Given the description of an element on the screen output the (x, y) to click on. 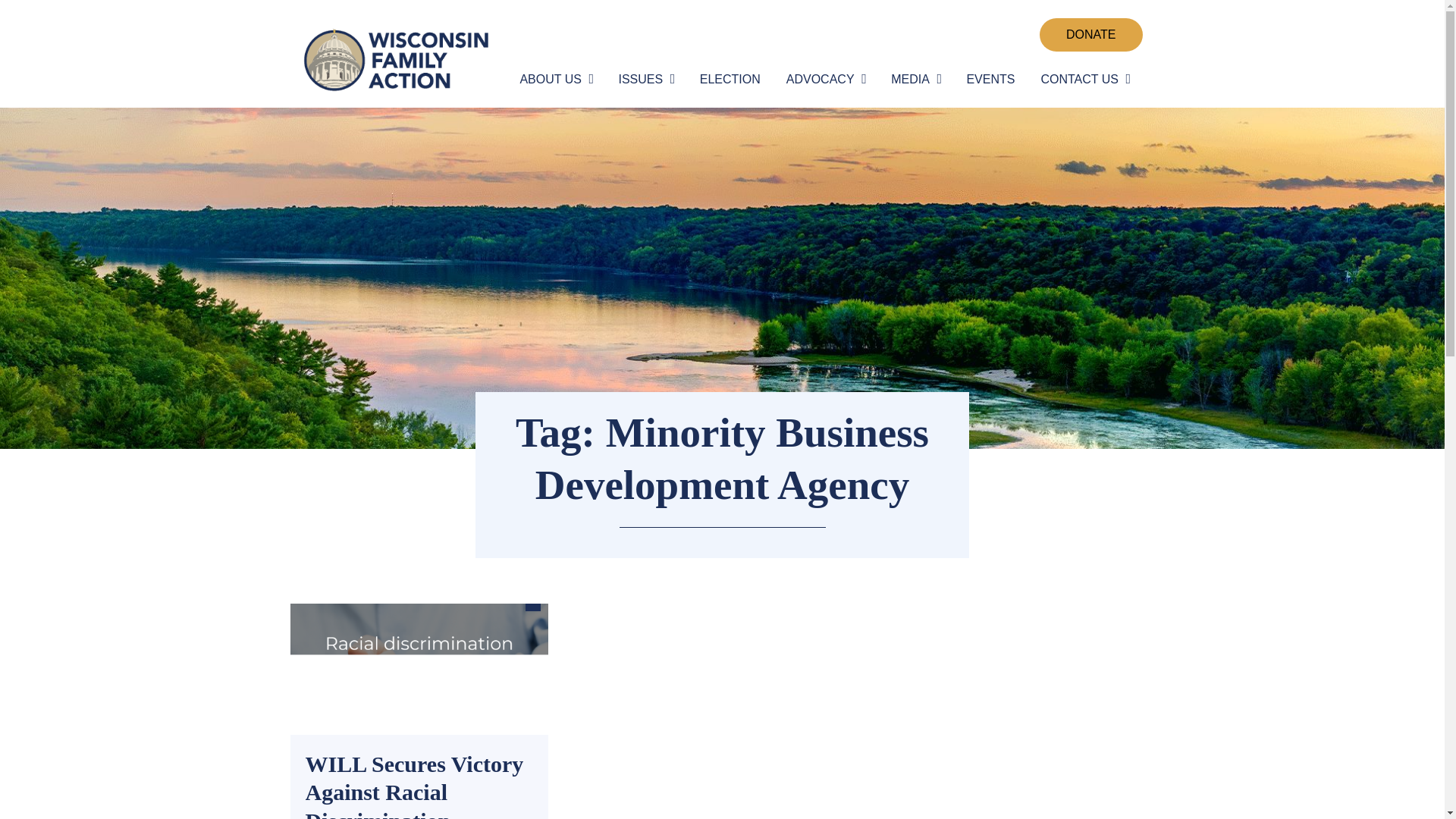
ISSUES (643, 79)
Media (913, 79)
DONATE (1090, 34)
Issues (643, 79)
Events (989, 79)
About Us (552, 79)
ADVOCACY (823, 79)
Election (730, 79)
ABOUT US (552, 79)
ELECTION (730, 79)
Advocacy (823, 79)
Contact Us (1082, 79)
EVENTS (989, 79)
CONTACT US (1082, 79)
MEDIA (913, 79)
